Given the description of an element on the screen output the (x, y) to click on. 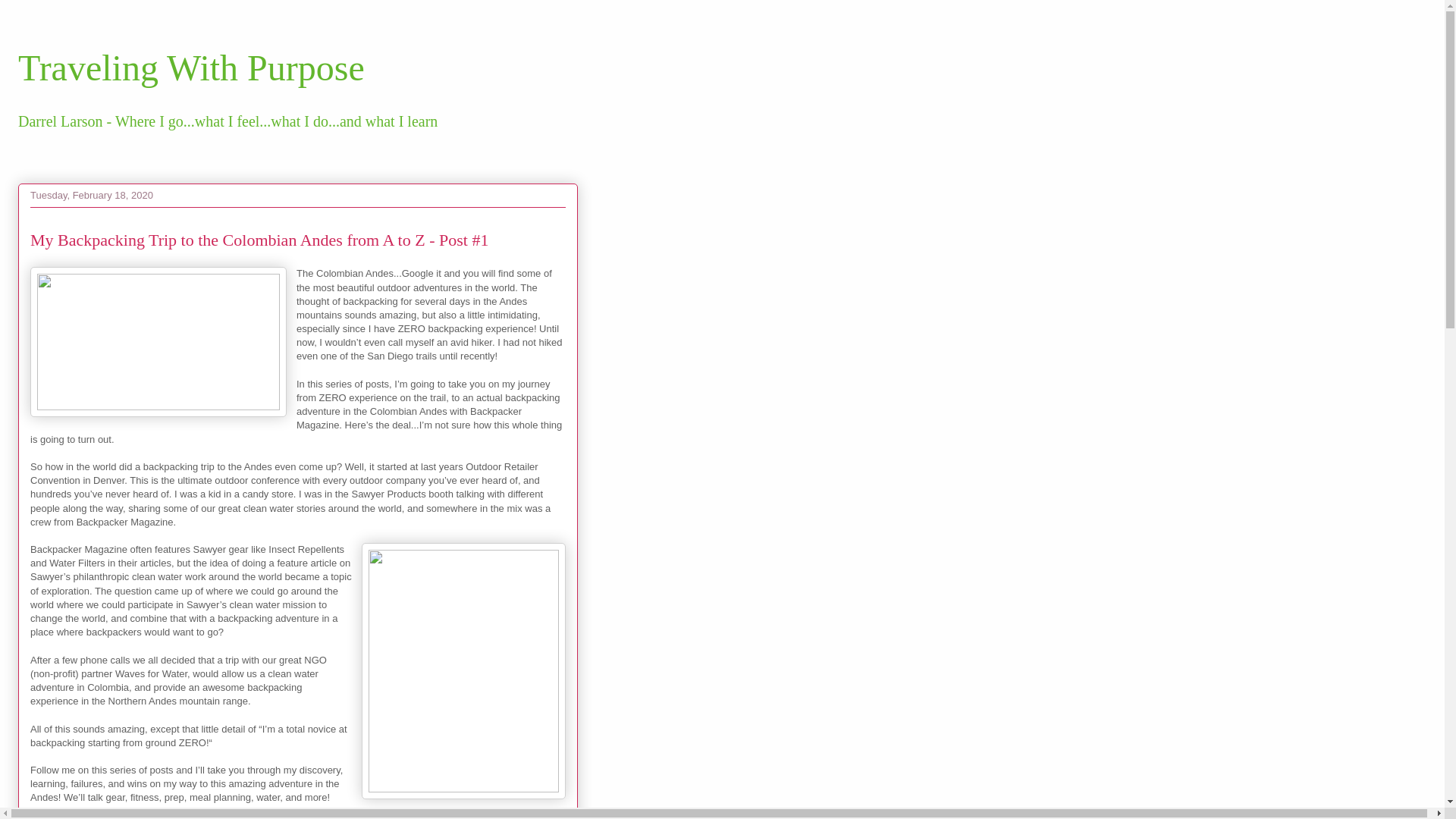
Traveling With Purpose (191, 67)
